Given the description of an element on the screen output the (x, y) to click on. 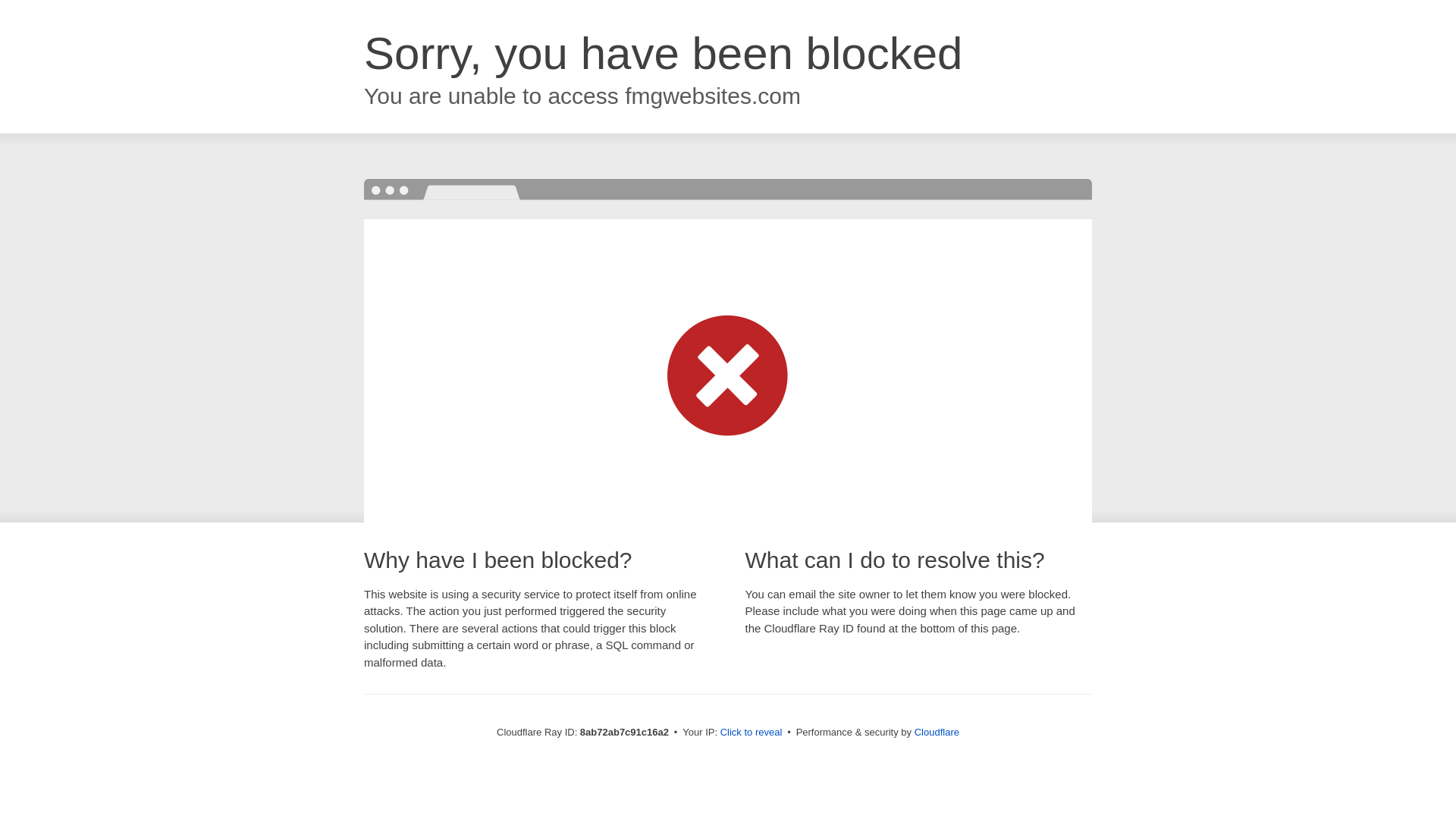
Click to reveal (751, 732)
Cloudflare (936, 731)
